Given the description of an element on the screen output the (x, y) to click on. 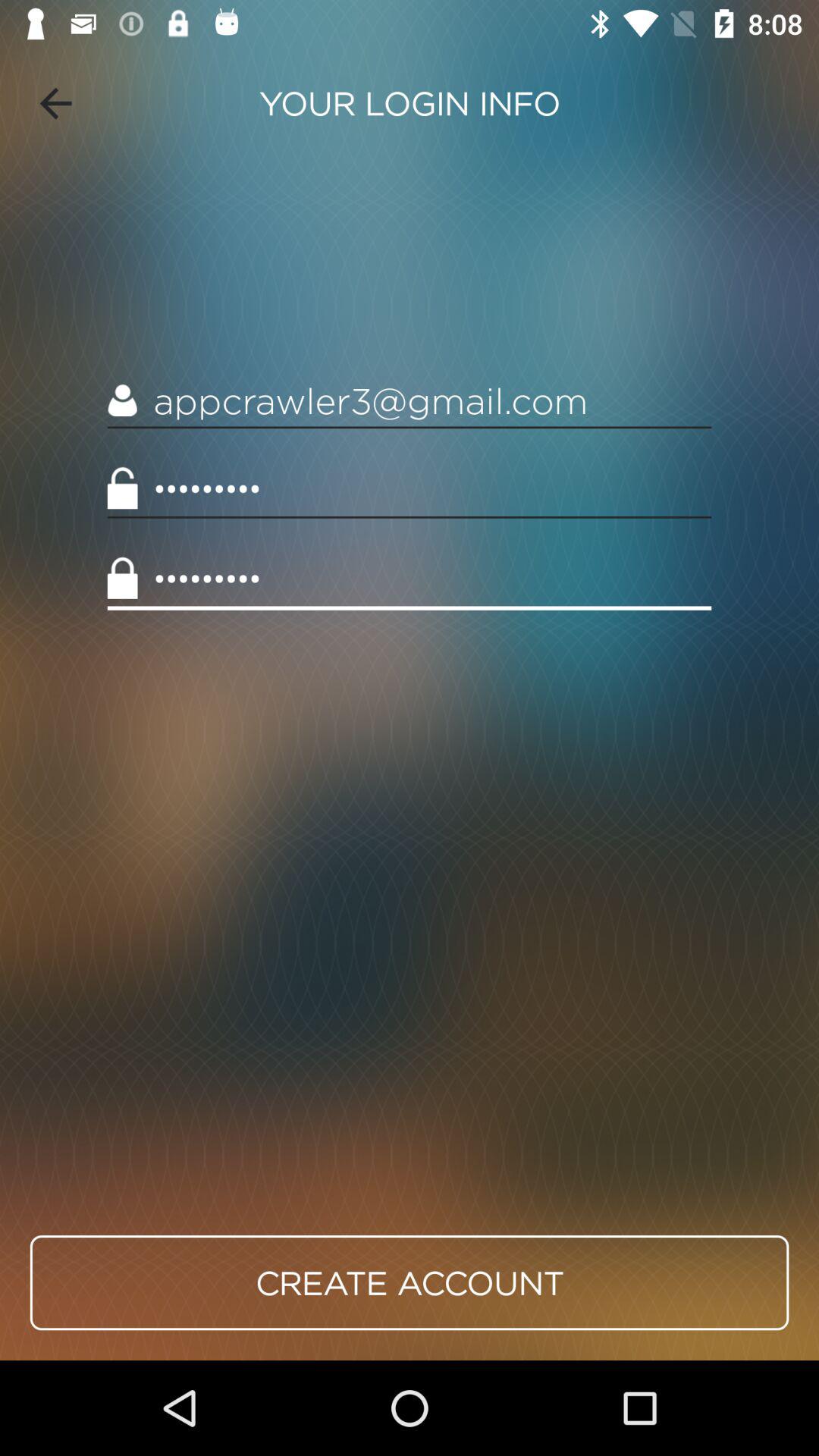
swipe to create account item (409, 1282)
